Given the description of an element on the screen output the (x, y) to click on. 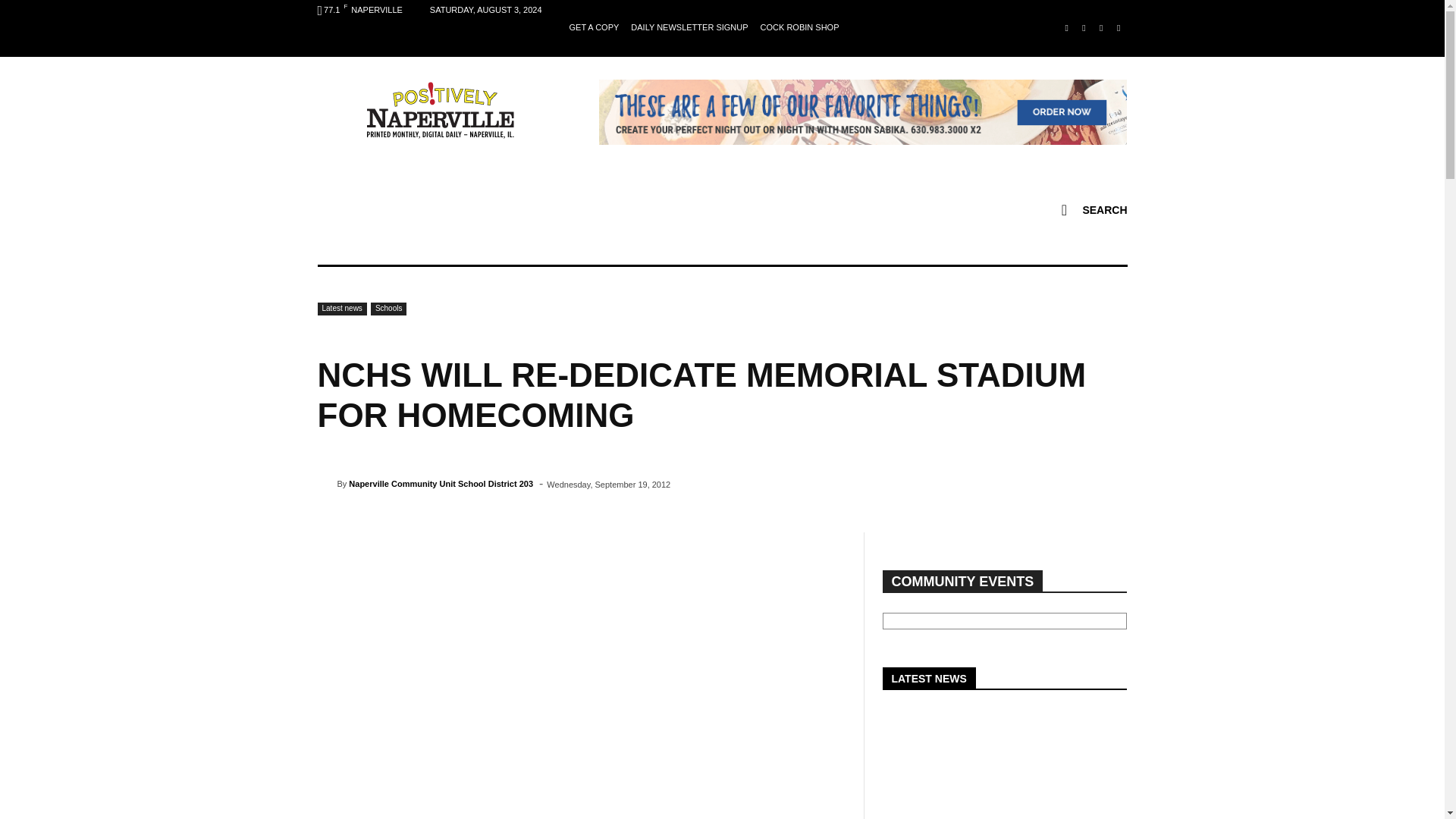
Twitter (1117, 27)
DAILY NEWSLETTER SIGNUP (689, 27)
Positively Naperville (439, 109)
RSS (1101, 27)
Instagram (1084, 27)
GET A COPY (593, 27)
COCK ROBIN SHOP (800, 27)
Facebook (1066, 27)
Positively Naperville (439, 109)
